Given the description of an element on the screen output the (x, y) to click on. 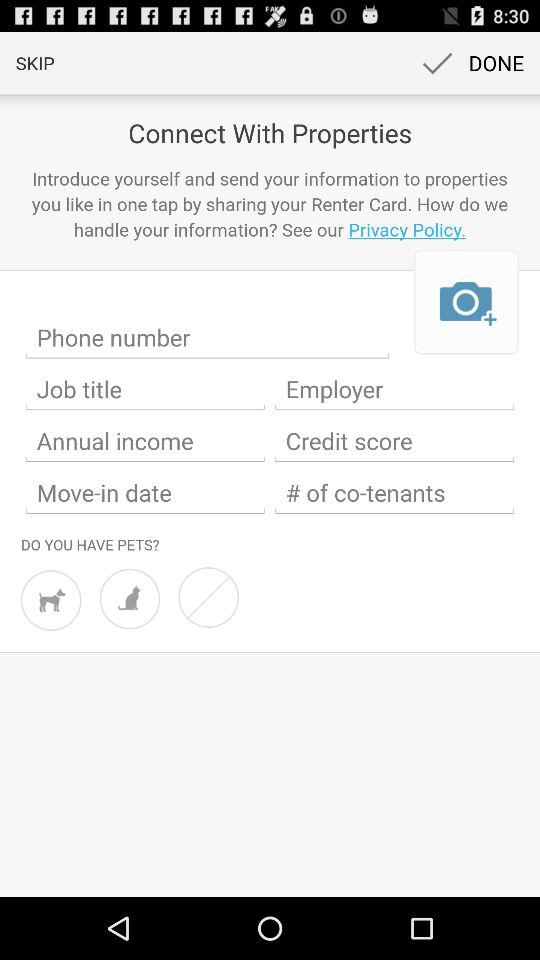
phone number (207, 337)
